Given the description of an element on the screen output the (x, y) to click on. 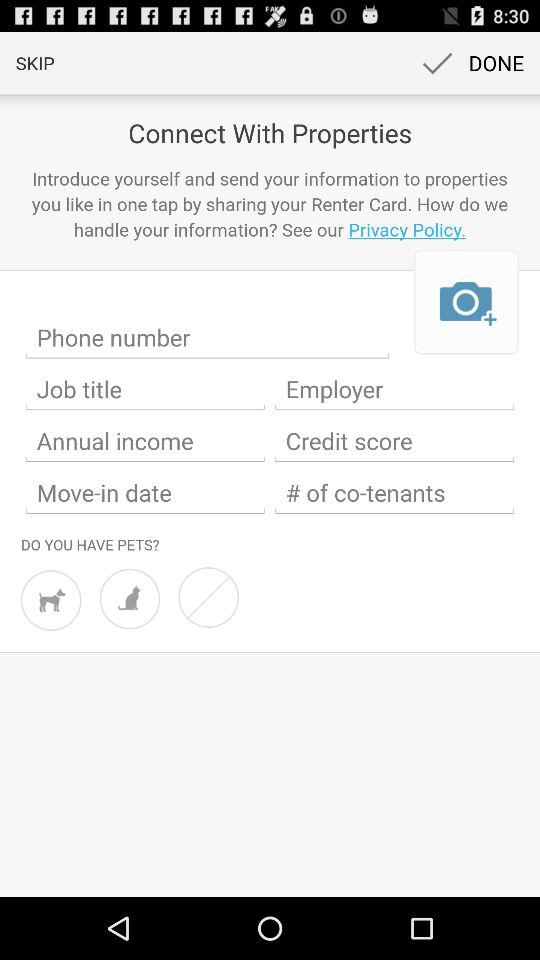
phone number (207, 337)
